Given the description of an element on the screen output the (x, y) to click on. 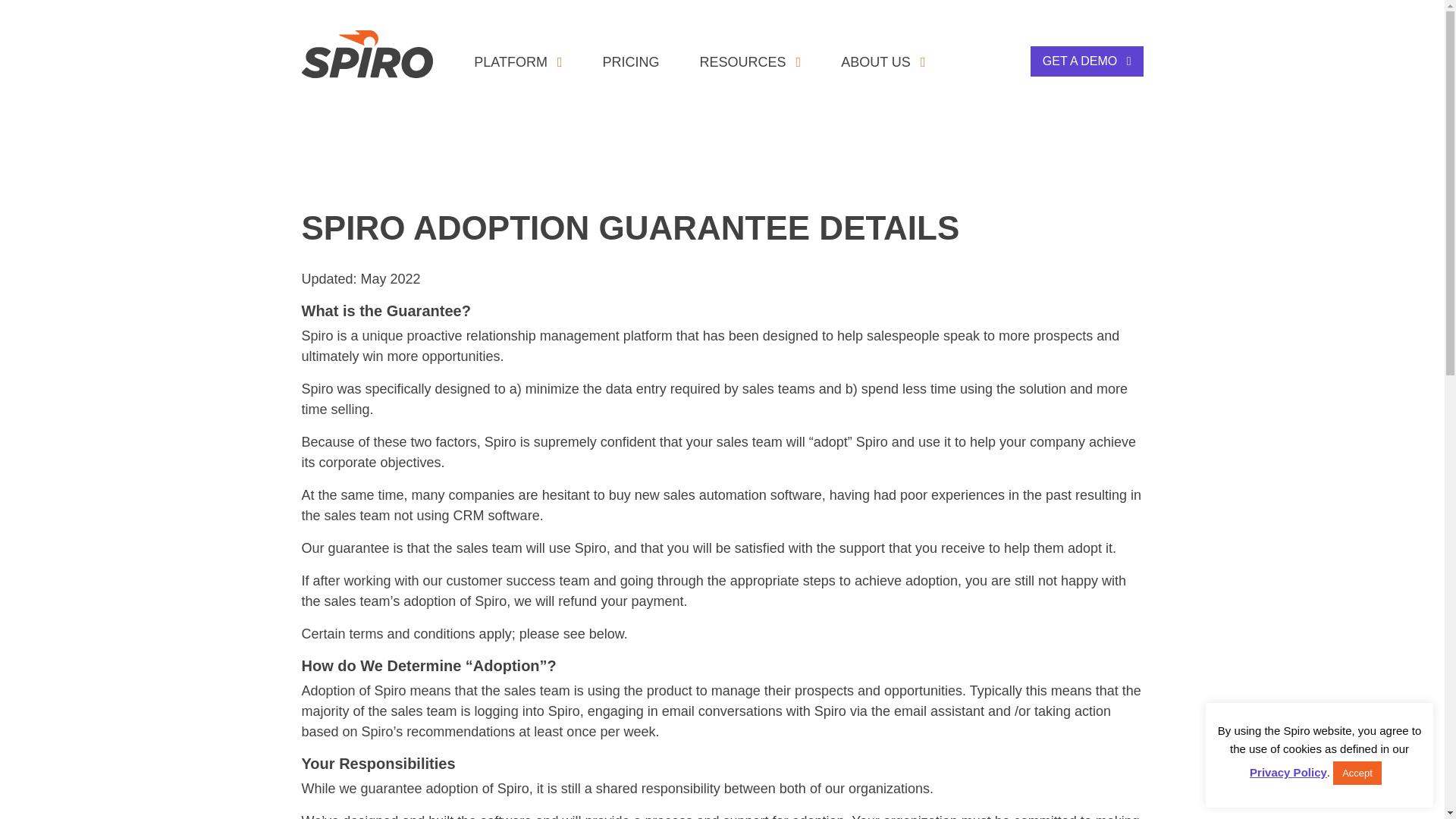
ABOUT US (882, 61)
PRICING (631, 61)
RESOURCES (750, 61)
GET A DEMO (1086, 60)
PLATFORM (517, 61)
